Given the description of an element on the screen output the (x, y) to click on. 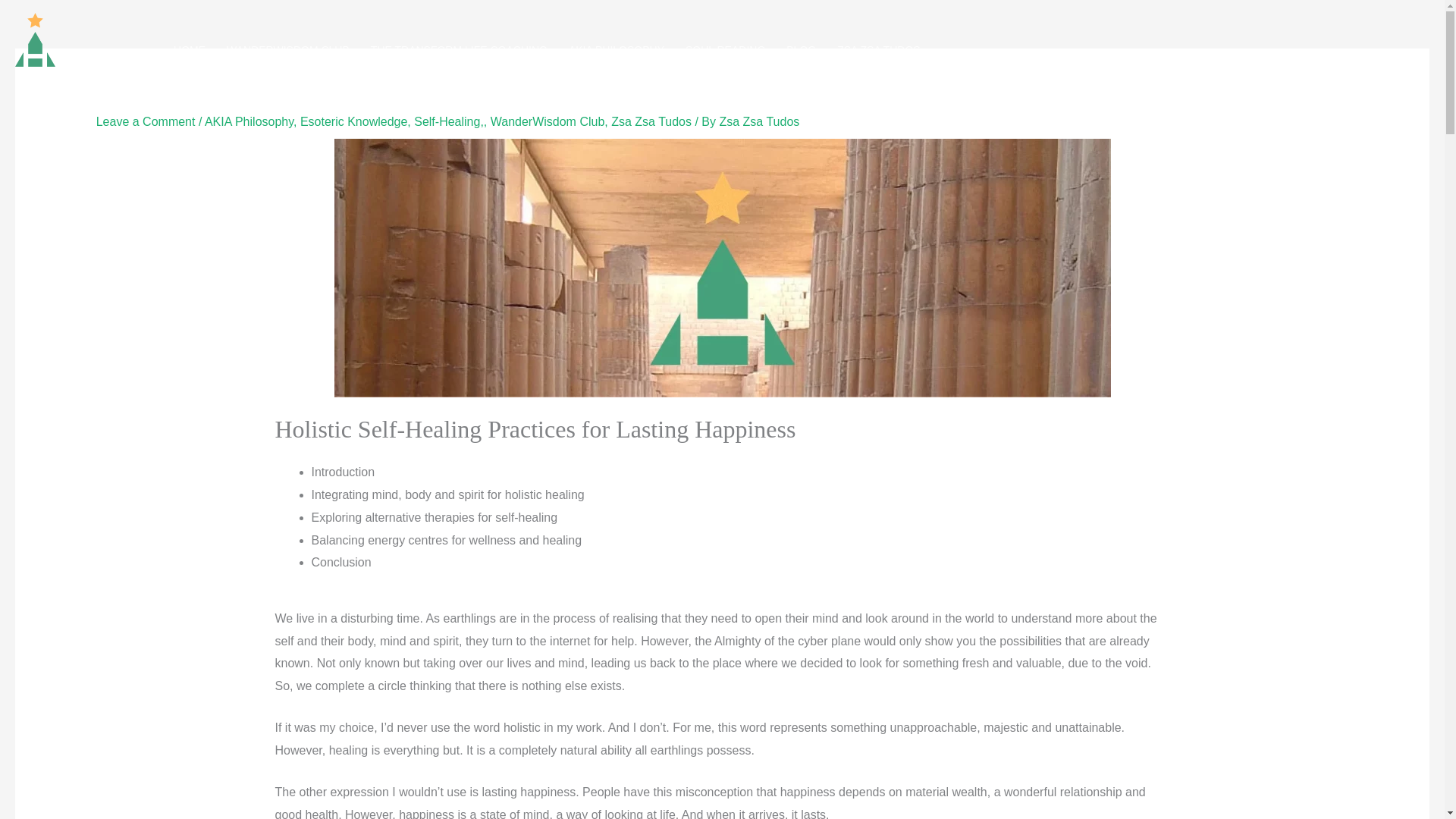
WanderWisdom Club (547, 121)
WANDERWISDOM CLUB (287, 49)
View all posts by Zsa Zsa Tudos (759, 121)
SOUL READING (725, 49)
Leave a Comment (145, 121)
Self-Healing, (448, 121)
Zsa Zsa Tudos (651, 121)
Esoteric Knowledge (353, 121)
ZSA ZSA TUDOS (878, 49)
THE TRANSFORM LIFE COACHING (458, 49)
AKIA Philosophy (249, 121)
AKIA PHILOSOPHY (616, 49)
Zsa Zsa Tudos (759, 121)
Zsa Zsa Tudos (67, 76)
